Given the description of an element on the screen output the (x, y) to click on. 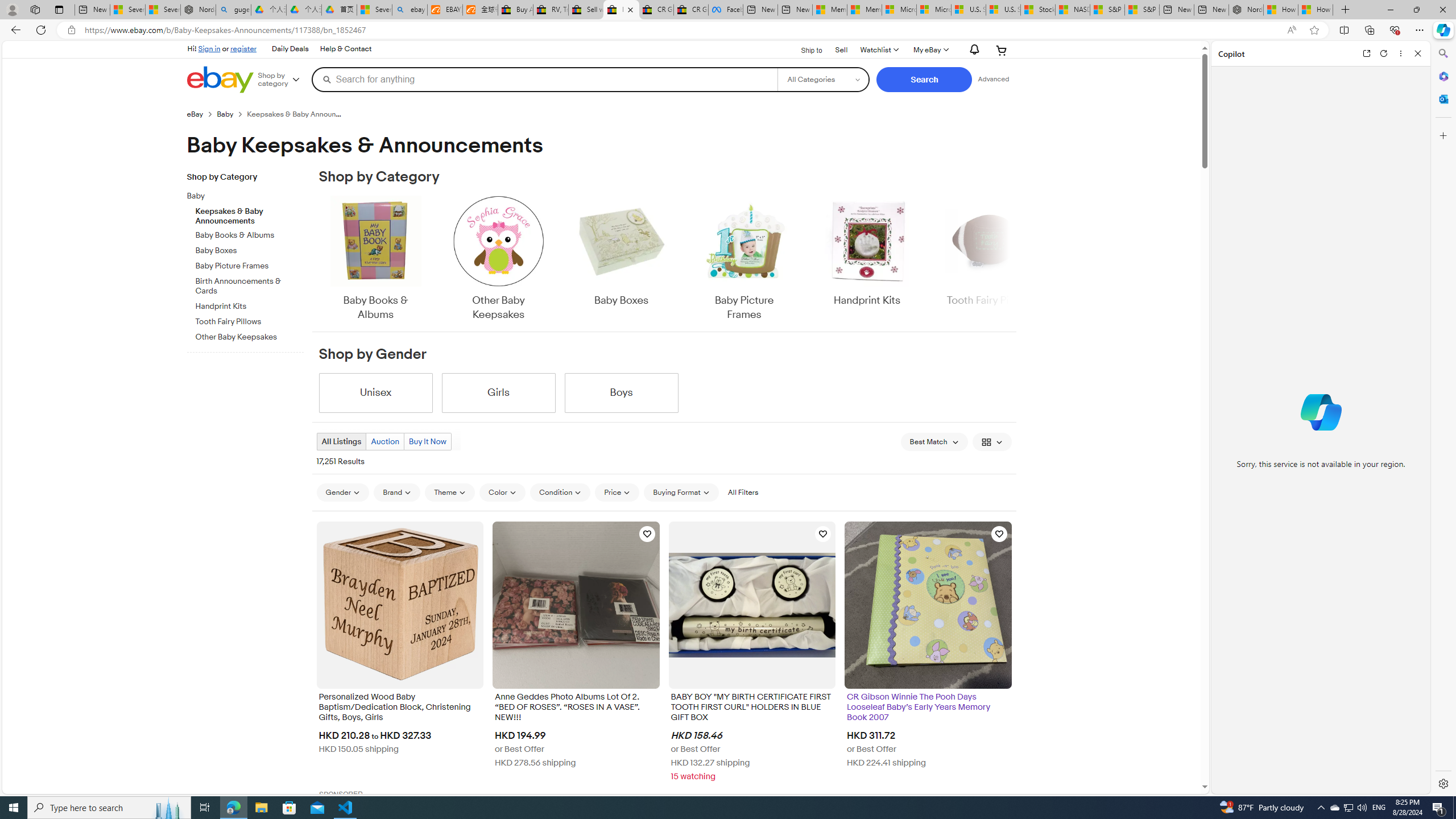
Expand Cart (1001, 49)
Buying Format (681, 492)
Sign in (209, 48)
Baby Books & Albums (375, 258)
Baby Boxes (621, 258)
Customize (1442, 135)
Baby Picture Frames (743, 258)
AutomationID: gh-eb-Alerts (972, 49)
Birth Announcements & Cards (249, 283)
